Given the description of an element on the screen output the (x, y) to click on. 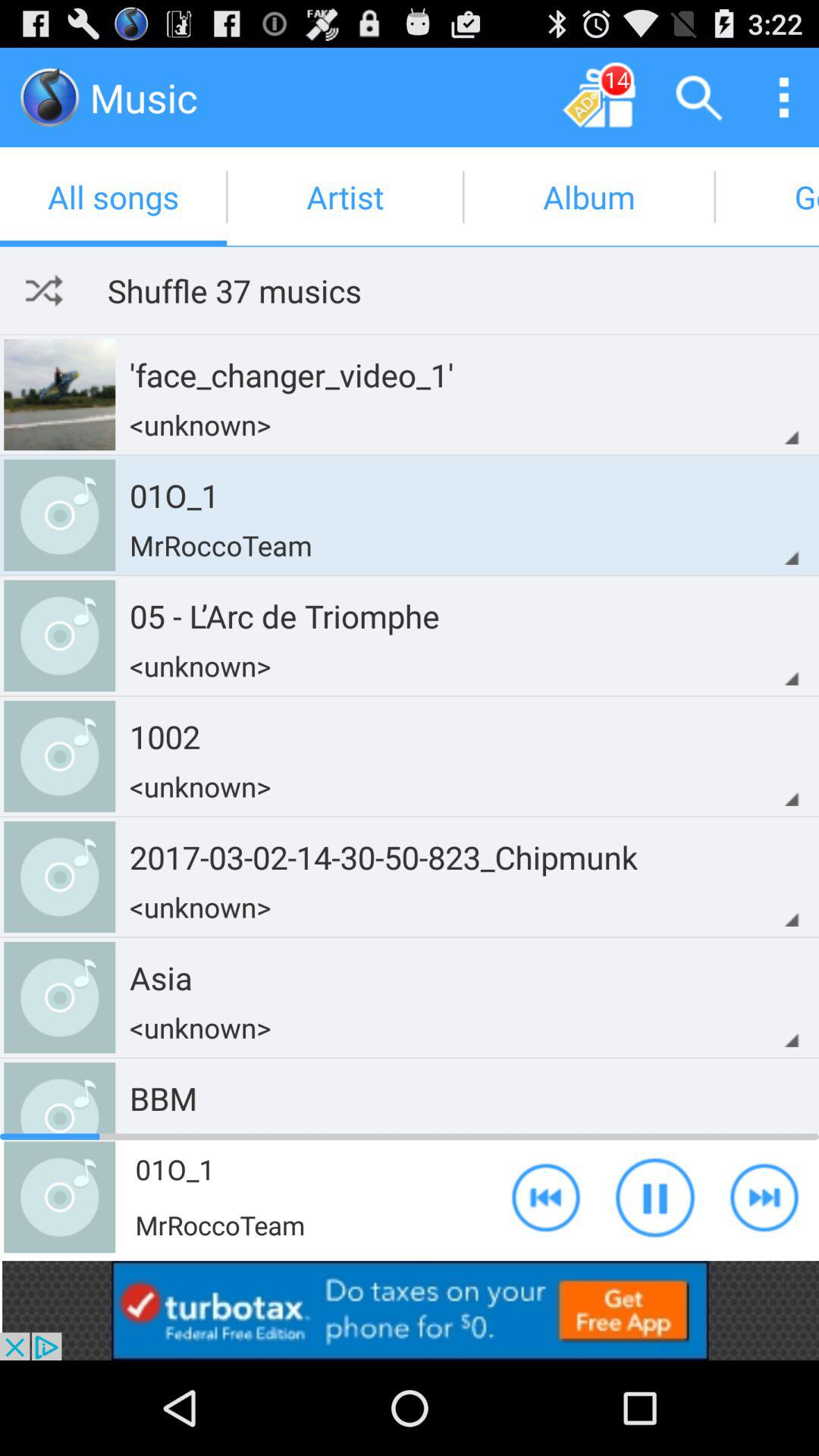
install app (409, 1310)
